Given the description of an element on the screen output the (x, y) to click on. 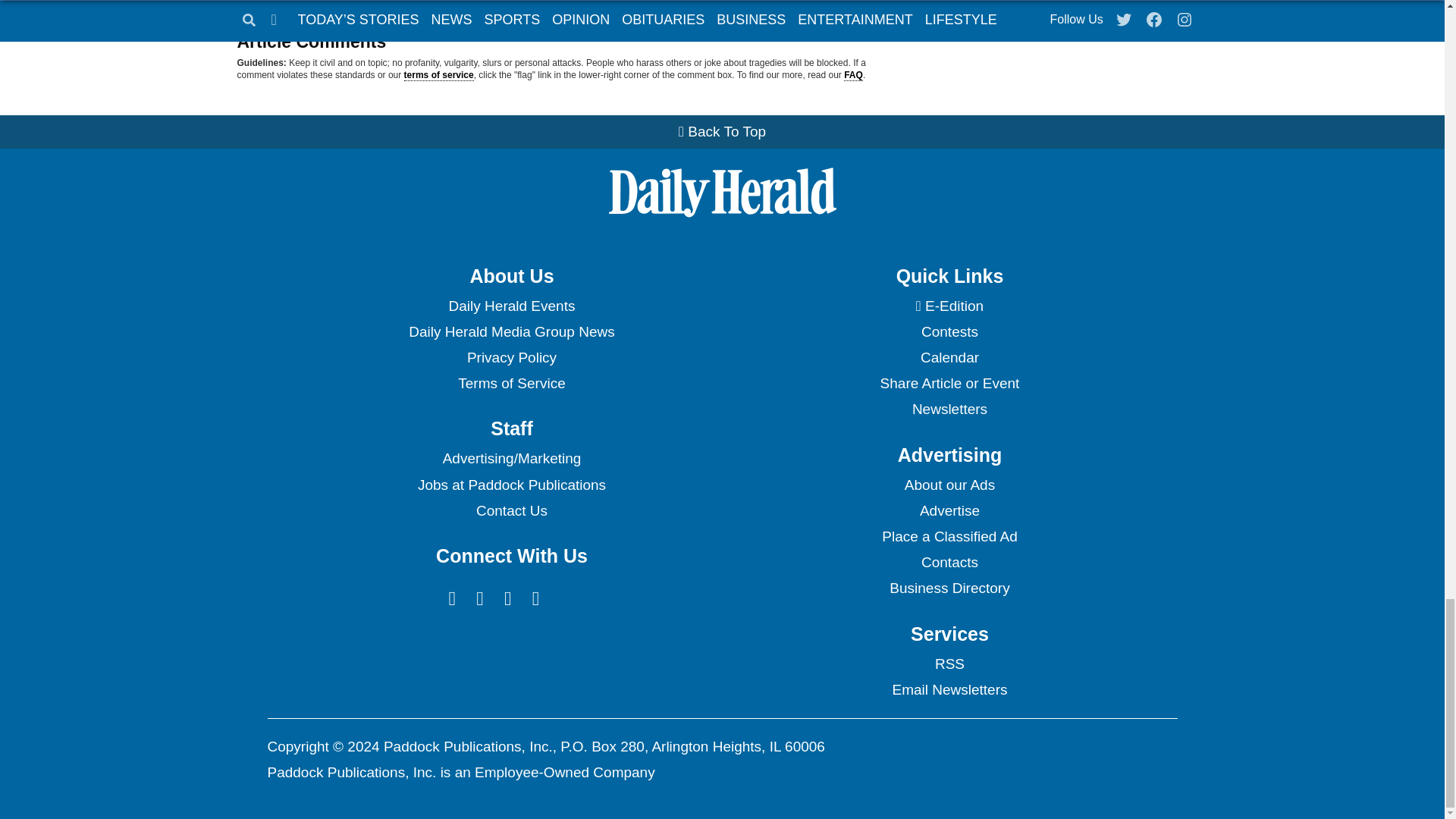
Jobs at Paddock Publications (511, 484)
Daily Herald Events (511, 306)
Contact Us (511, 510)
Daily Herald Media Group News (511, 331)
Privacy Policy (511, 357)
Terms of Service (511, 383)
